Given the description of an element on the screen output the (x, y) to click on. 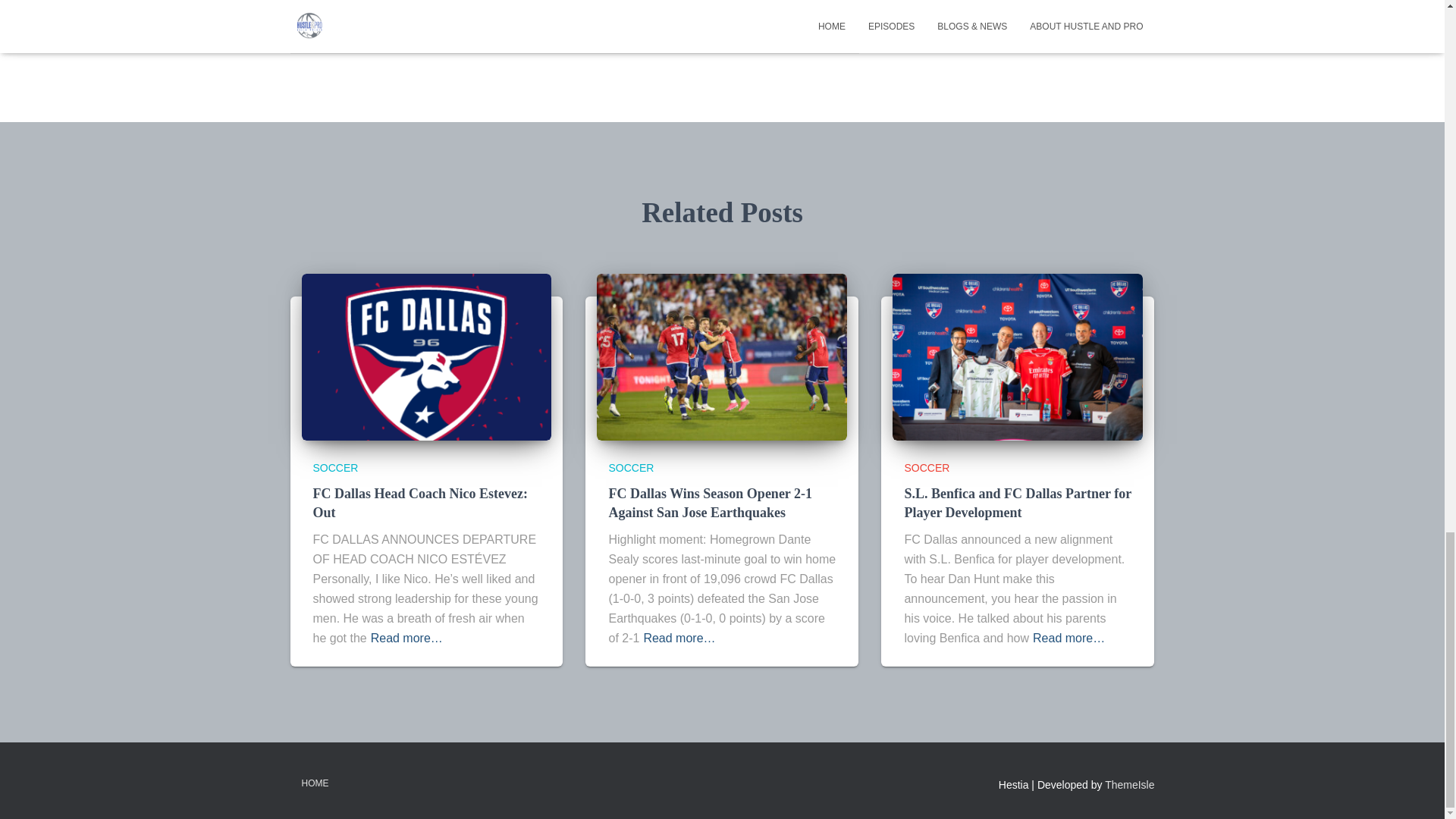
SOCCER (630, 467)
SOCCER (926, 467)
S.L. Benfica and FC Dallas Partner for Player Development (1017, 503)
View all posts in Soccer (335, 467)
FC Dallas Head Coach Nico Estevez: Out (426, 356)
FC Dallas Head Coach Nico Estevez: Out (420, 503)
View all posts in Soccer (630, 467)
S.L. Benfica and FC Dallas Partner for Player Development (1017, 503)
View all posts in Soccer (926, 467)
FC Dallas Head Coach Nico Estevez: Out (420, 503)
